Given the description of an element on the screen output the (x, y) to click on. 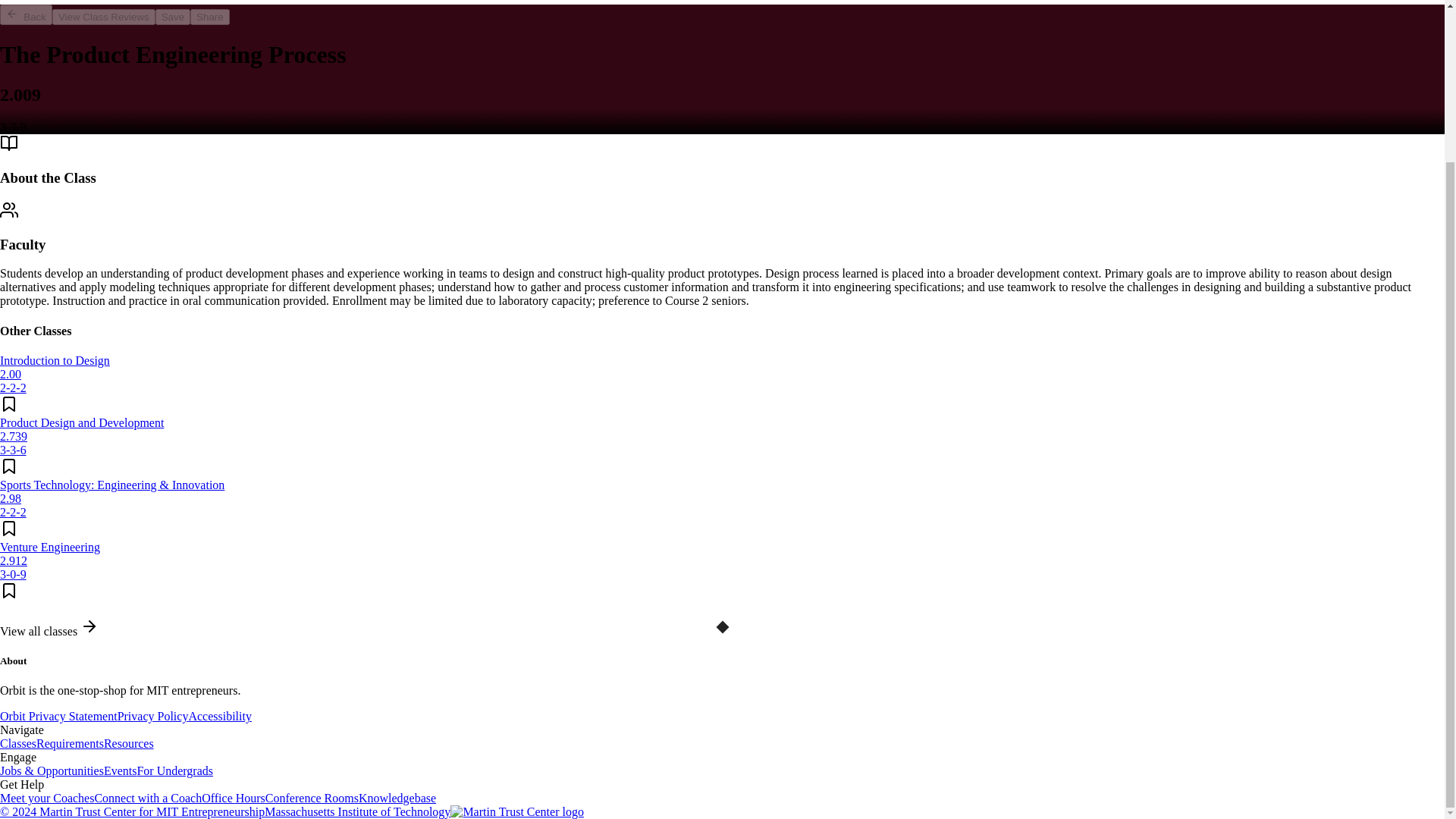
Resources (128, 743)
View Class Reviews (103, 17)
Knowledgebase (396, 797)
Privacy Policy (153, 716)
Back (26, 14)
Connect with a Coach (148, 797)
Meet your Coaches (47, 797)
Save (172, 17)
Share (210, 17)
Classes (18, 743)
Orbit Privacy Statement (58, 716)
Events (119, 770)
For Undergrads (174, 770)
View all classes (49, 631)
Accessibility (219, 716)
